Given the description of an element on the screen output the (x, y) to click on. 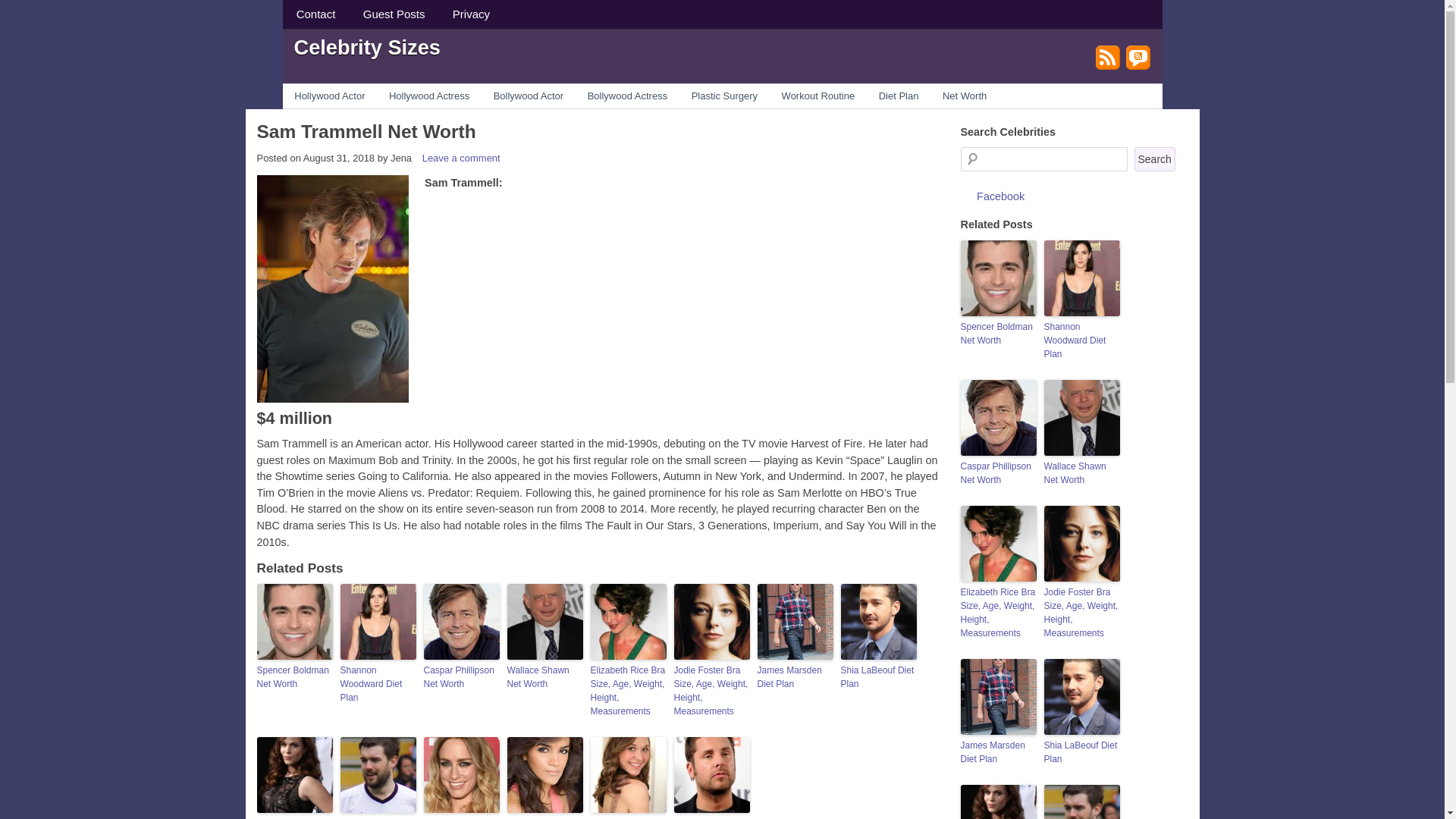
Pihla Viitala Bra Size, Age, Weight, Height, Measurements (293, 817)
Sam Trammell Net Worth (366, 131)
Plastic Surgery (724, 96)
Wallace Shawn Net Worth (544, 677)
Shia LaBeouf Diet Plan (877, 677)
Privacy (471, 14)
10:32 am (338, 157)
August 31, 2018 (338, 157)
Permalink to Sam Trammell Net Worth (366, 131)
Jena (401, 157)
Leave a comment (461, 157)
View all posts by Jena (401, 157)
Elizabeth Rice Bra Size, Age, Weight, Height, Measurements (627, 690)
Jack Whitehall Net Worth (376, 817)
Guest Posts (394, 14)
